Given the description of an element on the screen output the (x, y) to click on. 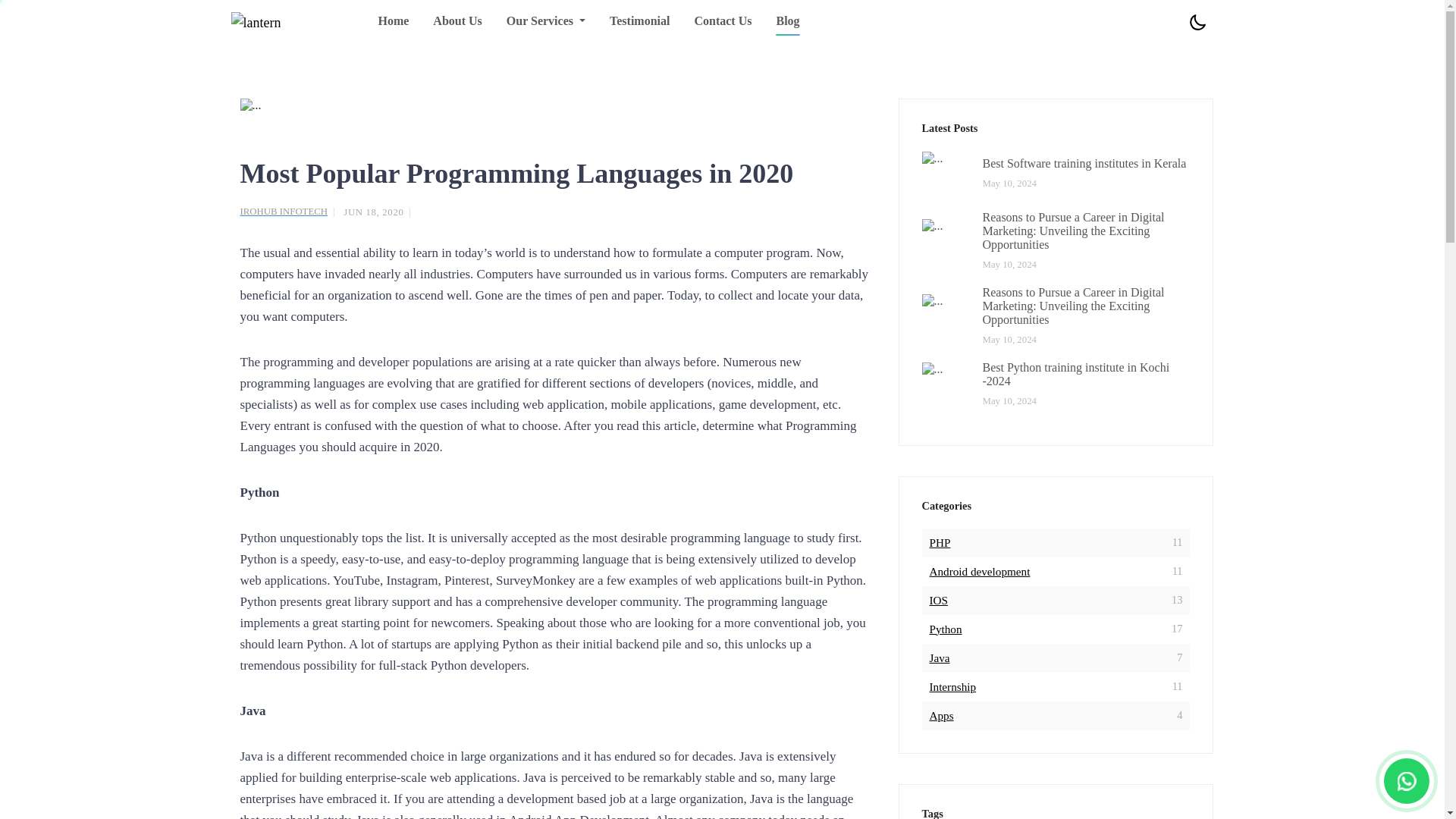
Apps (941, 715)
IROHUB INFOTECH (1056, 172)
Java (289, 211)
Python (940, 658)
PHP (946, 629)
IOS (940, 542)
Home (938, 600)
Testimonial (393, 22)
Contact Us (639, 22)
Android development (722, 22)
Blog (980, 571)
Our Services (787, 22)
